Given the description of an element on the screen output the (x, y) to click on. 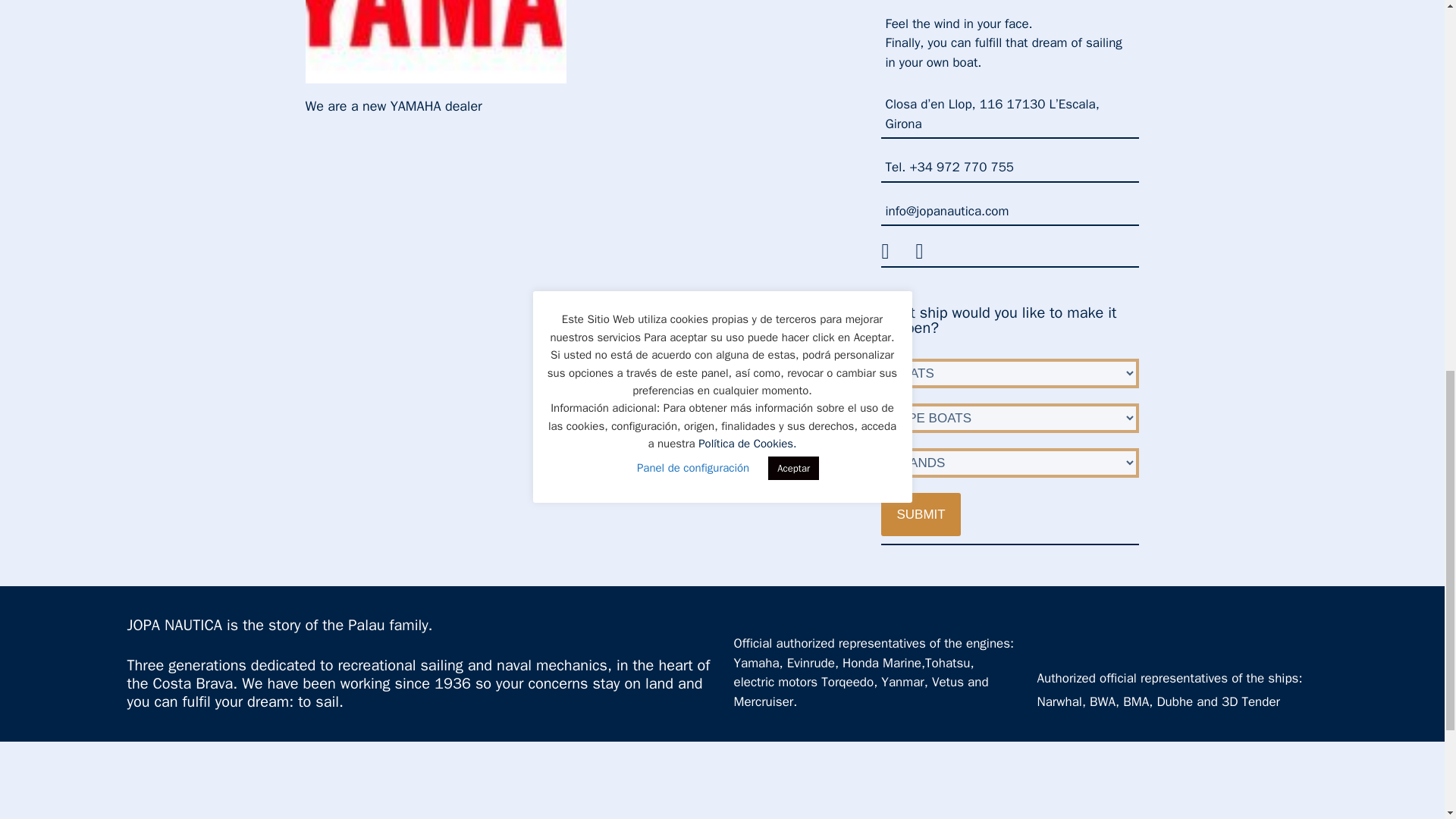
Scroll back to top (1406, 720)
Submit (919, 514)
